Given the description of an element on the screen output the (x, y) to click on. 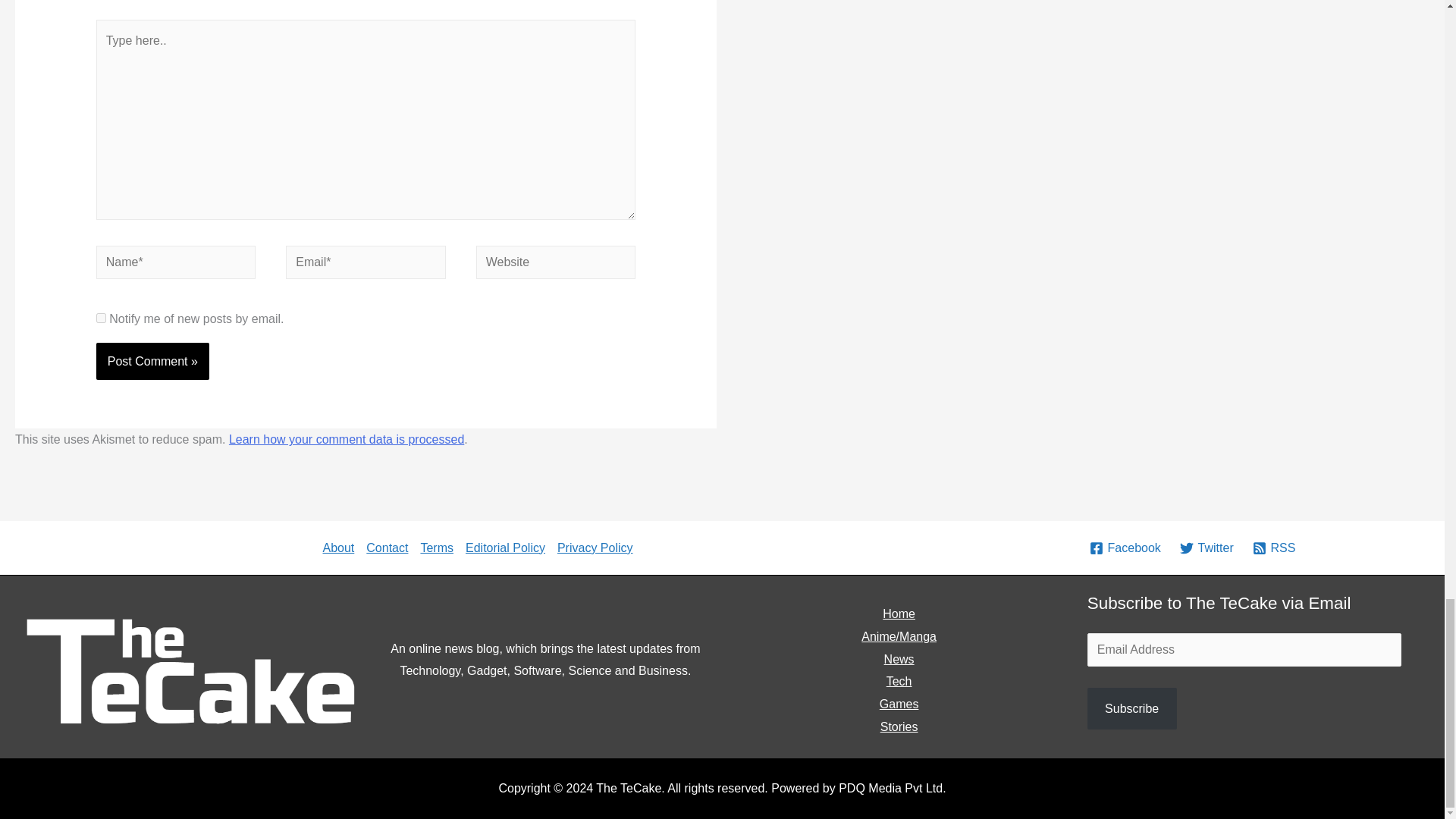
subscribe (101, 317)
